Given the description of an element on the screen output the (x, y) to click on. 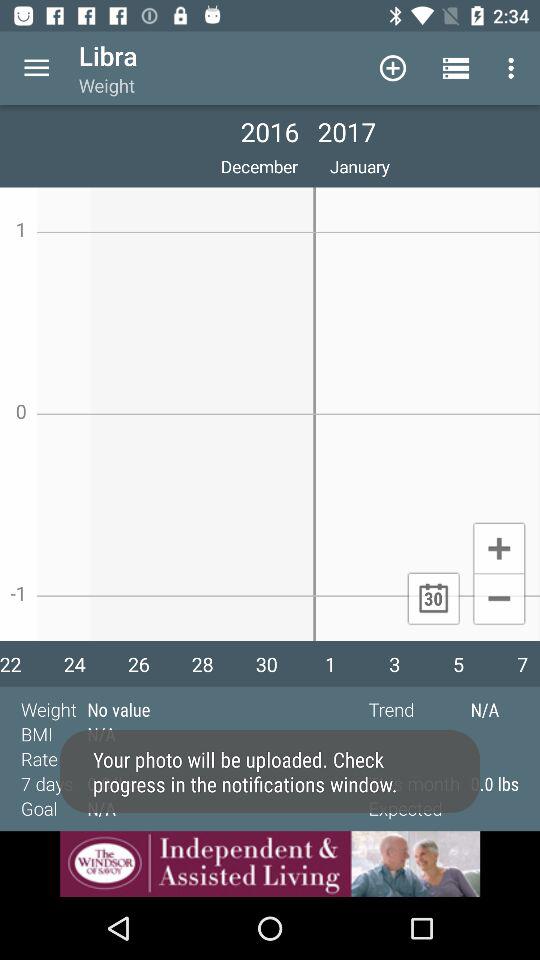
open options menu (36, 68)
